Given the description of an element on the screen output the (x, y) to click on. 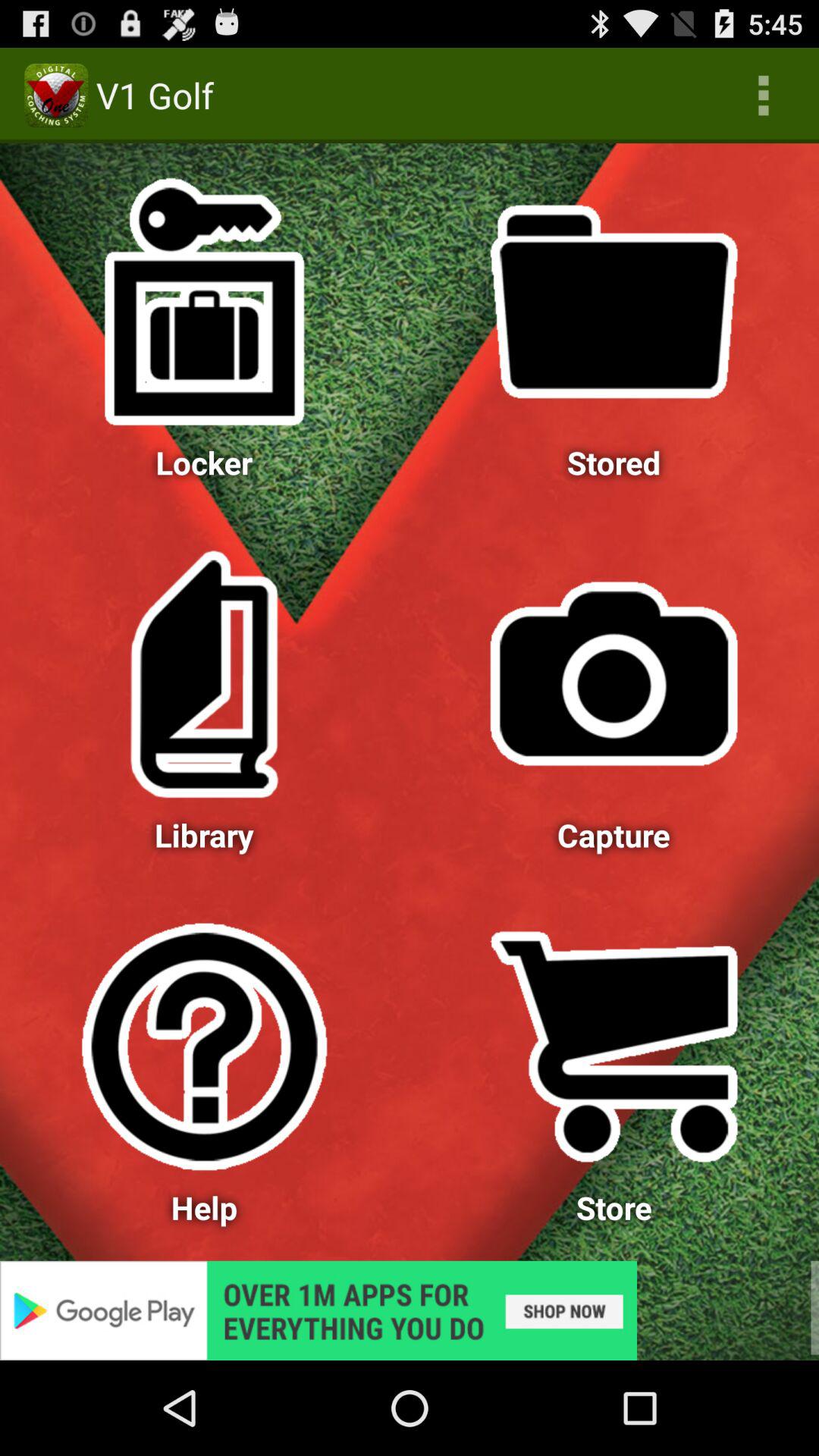
select icon below help item (409, 1310)
